Given the description of an element on the screen output the (x, y) to click on. 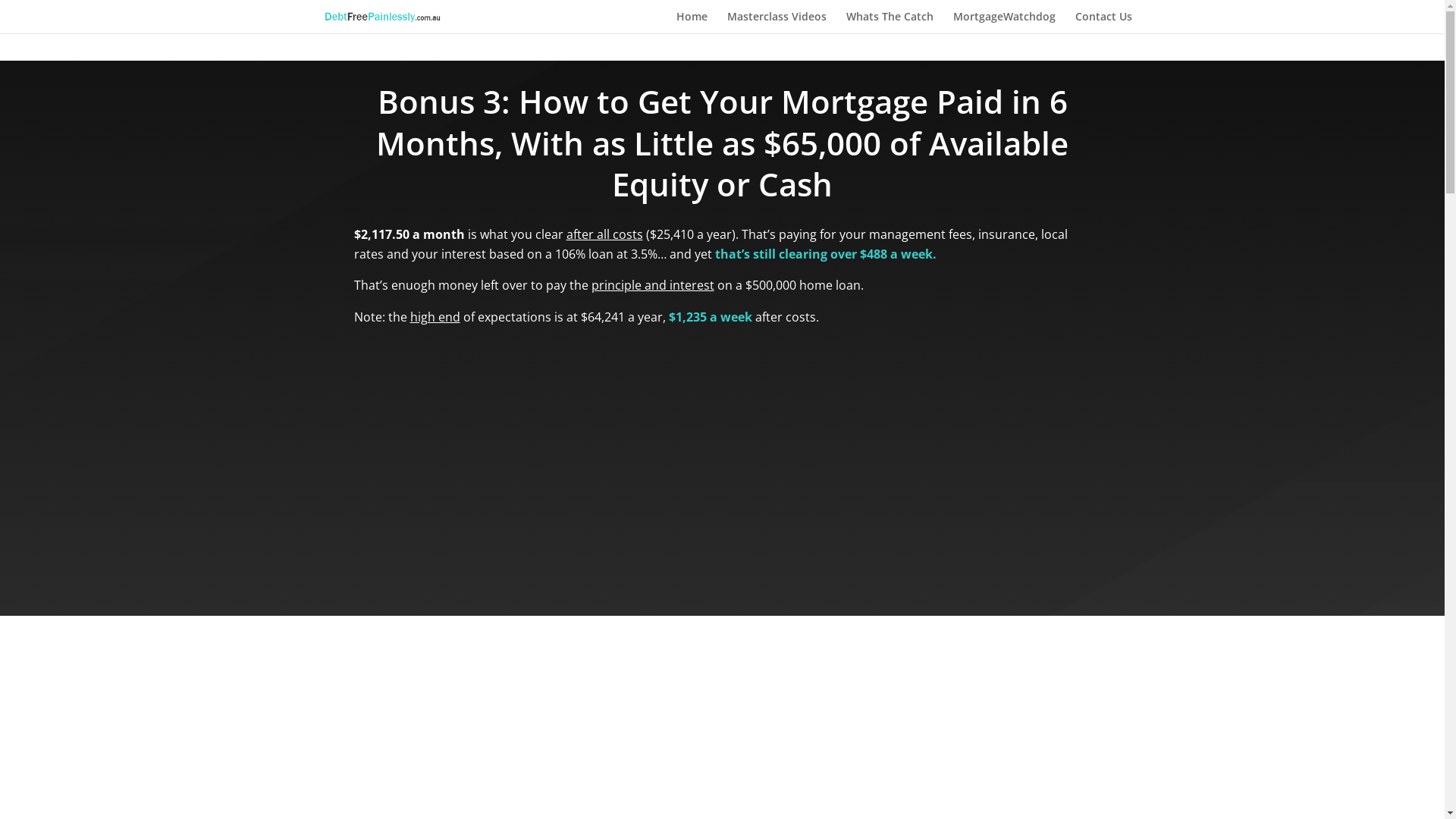
Contact Us Element type: text (1103, 22)
Whats The Catch Element type: text (889, 22)
MortgageWatchdog Element type: text (1003, 22)
Home Element type: text (691, 22)
Masterclass Videos Element type: text (775, 22)
